Given the description of an element on the screen output the (x, y) to click on. 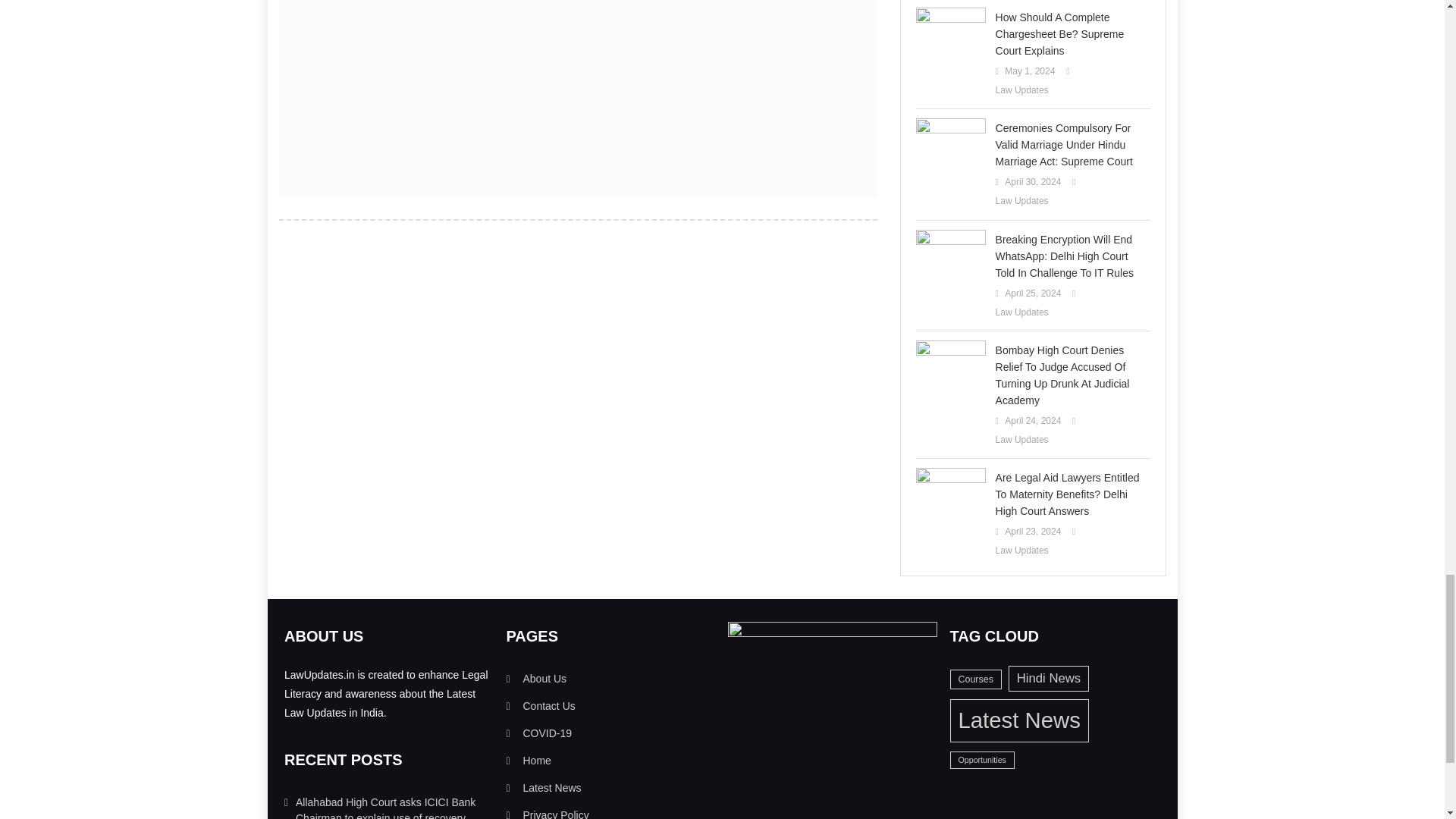
Comment Form (577, 87)
